Given the description of an element on the screen output the (x, y) to click on. 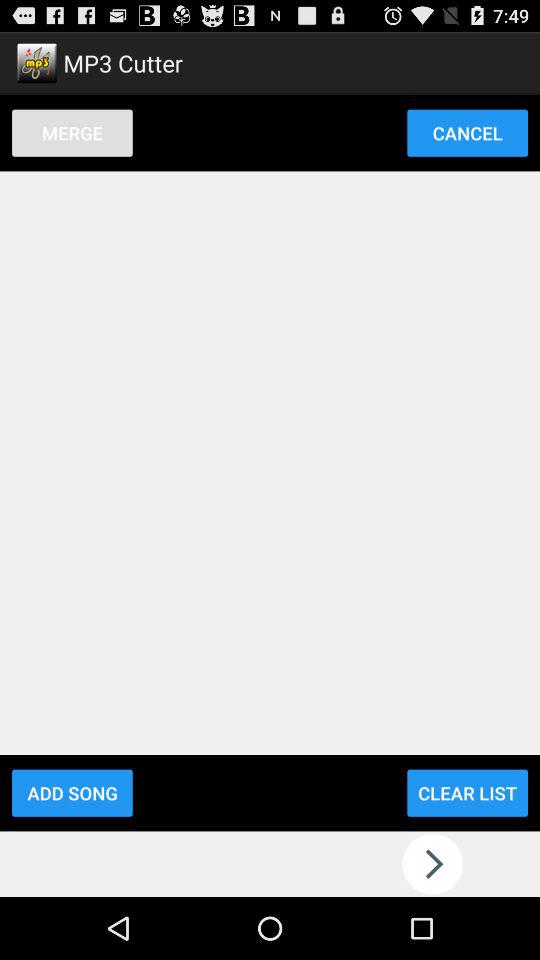
open item to the left of clear list button (72, 792)
